Given the description of an element on the screen output the (x, y) to click on. 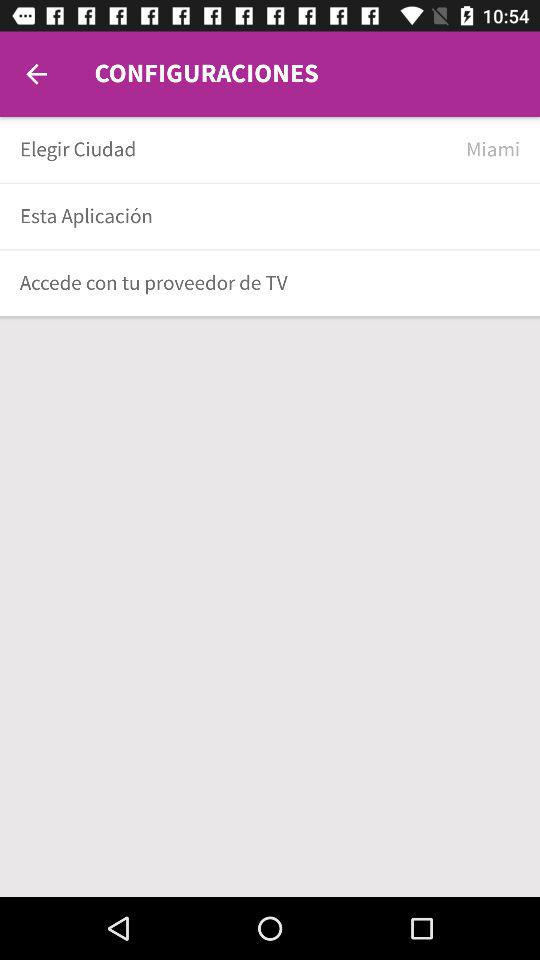
swipe until elegir ciudad item (235, 149)
